Given the description of an element on the screen output the (x, y) to click on. 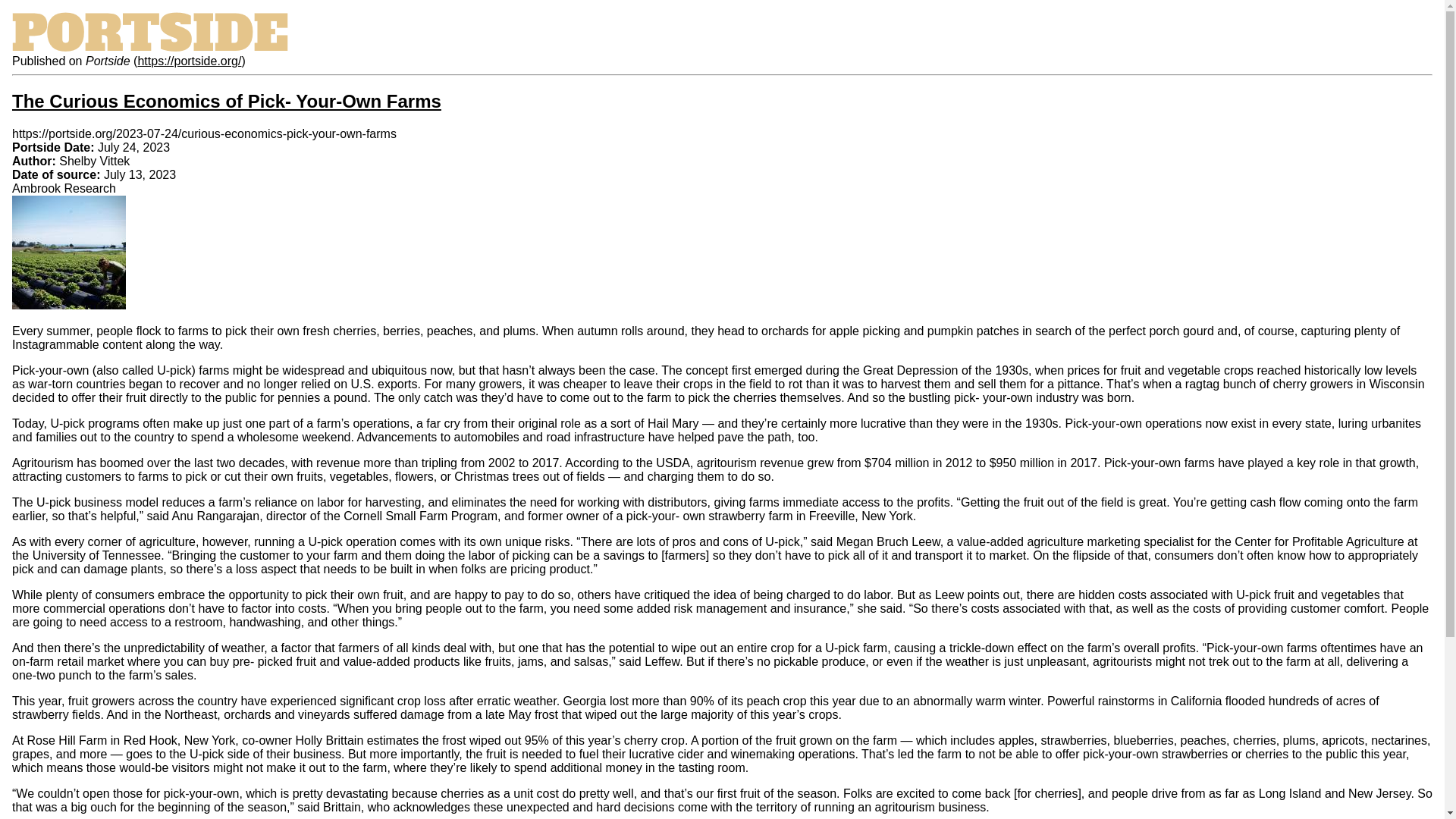
The Curious Economics of Pick- Your-Own Farms (226, 100)
